Given the description of an element on the screen output the (x, y) to click on. 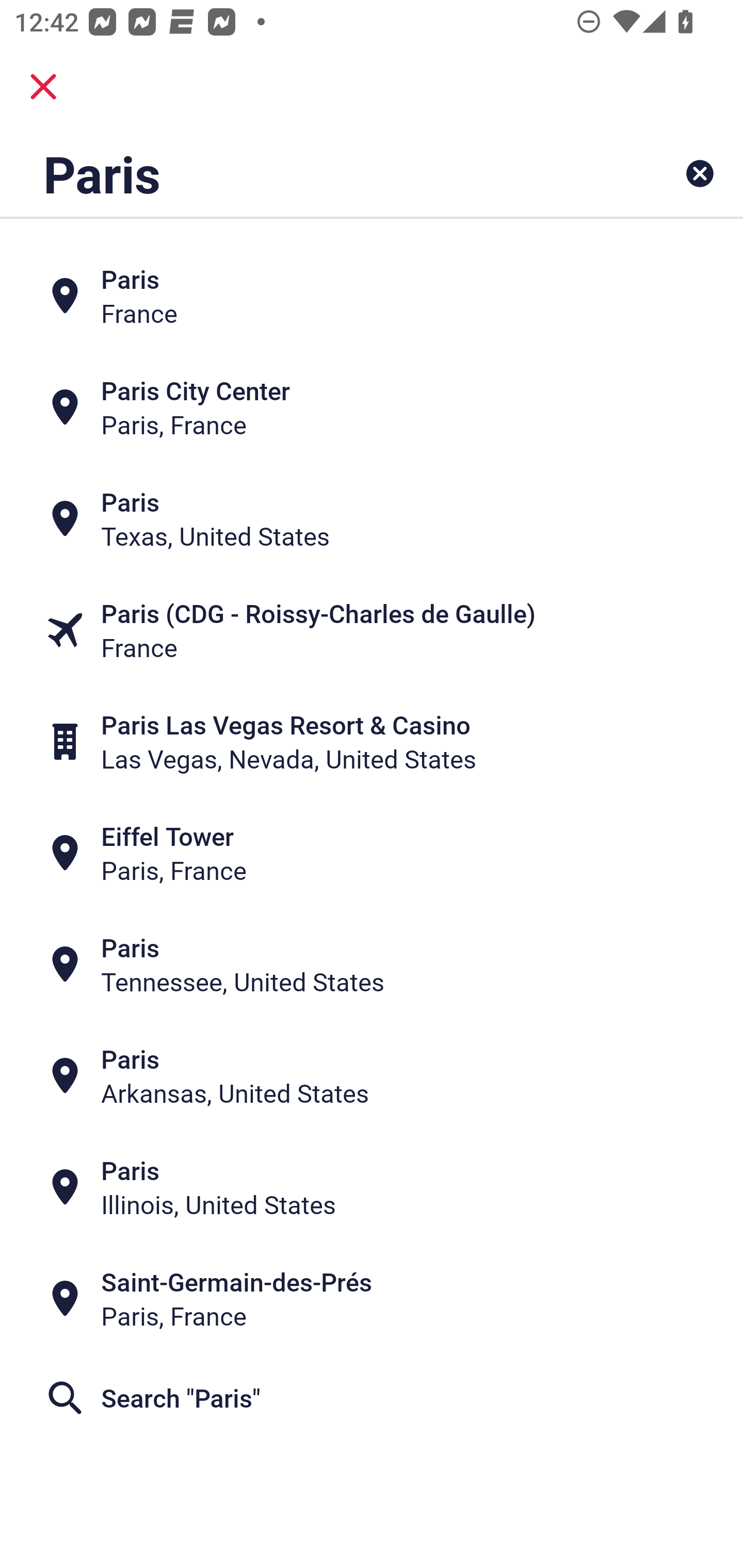
close. (43, 86)
Clear (699, 173)
Paris (306, 173)
Paris France (371, 295)
Paris City Center Paris, France (371, 406)
Paris Texas, United States (371, 517)
Paris (CDG - Roissy-Charles de Gaulle) France (371, 629)
Eiffel Tower Paris, France (371, 853)
Paris Tennessee, United States (371, 964)
Paris Arkansas, United States (371, 1076)
Paris Illinois, United States (371, 1187)
Saint-Germain-des-Prés Paris, France (371, 1298)
Search "Paris" (371, 1397)
